Given the description of an element on the screen output the (x, y) to click on. 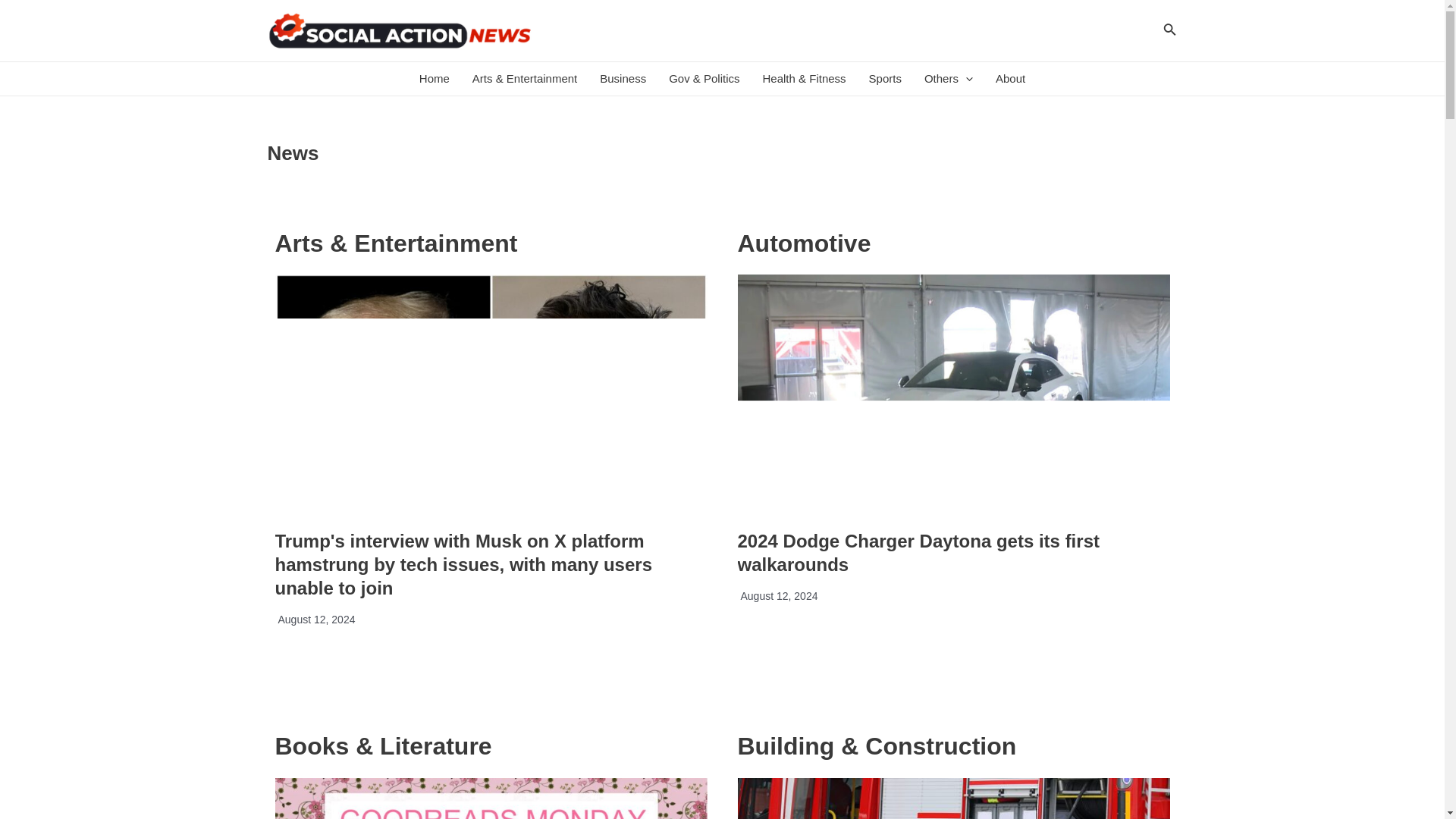
Others (948, 78)
Home (434, 78)
Sports (884, 78)
Business (623, 78)
About (1010, 78)
